Given the description of an element on the screen output the (x, y) to click on. 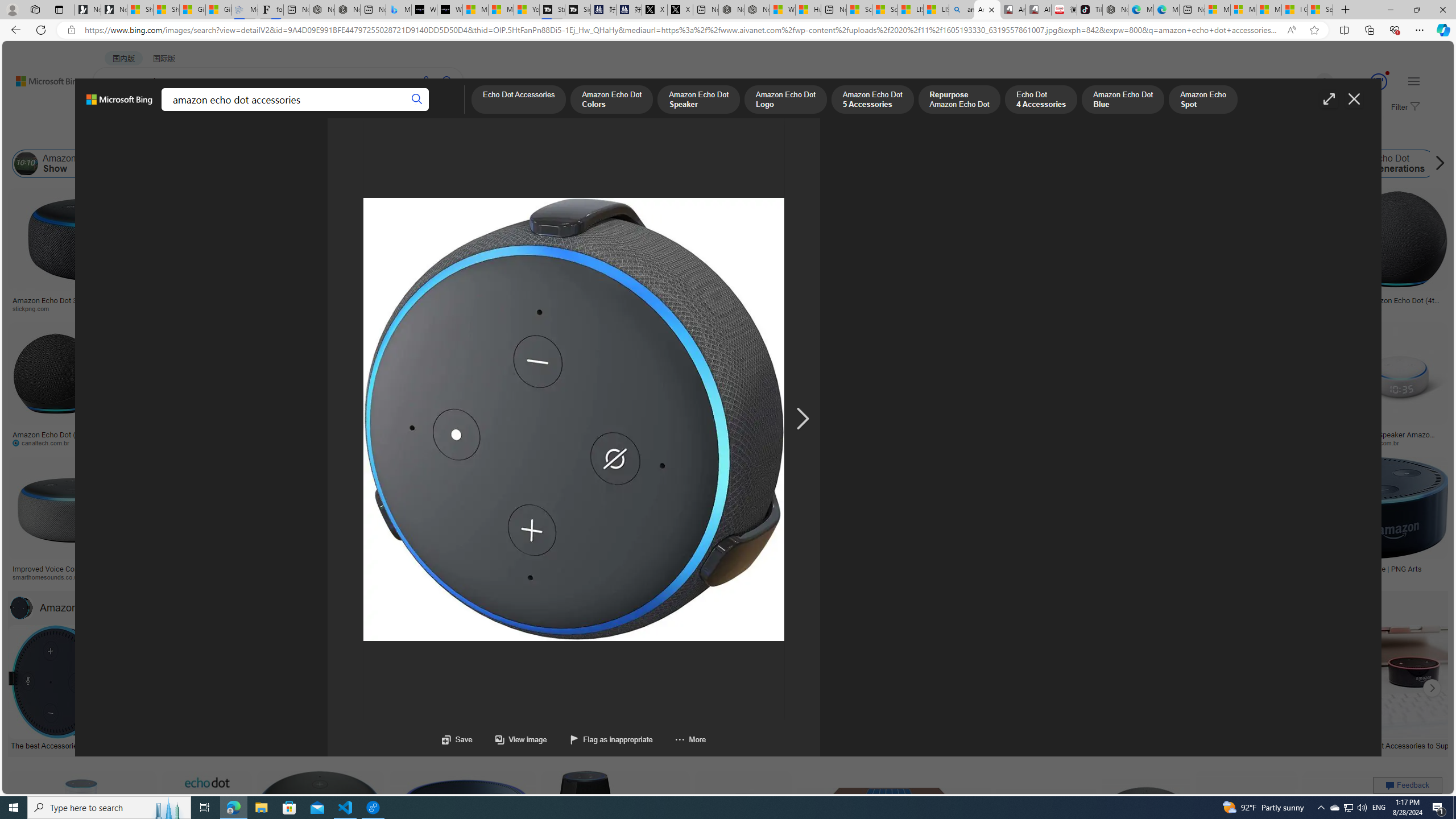
Settings and quick links (1413, 80)
pricehistoryapp.com (276, 442)
Image size (126, 135)
WEB (114, 111)
Amazon Echo Dot Colors (611, 100)
Flag as inappropriate (610, 739)
VIDEOS (260, 111)
Amazon Echo Dot 3rd (326, 163)
Filter (1403, 107)
Echo Dot Accessories Echo Dot Accessories (828, 687)
15 Best Echo Dot Accessories You Can Buy (2020) | Beebom (683, 744)
